Given the description of an element on the screen output the (x, y) to click on. 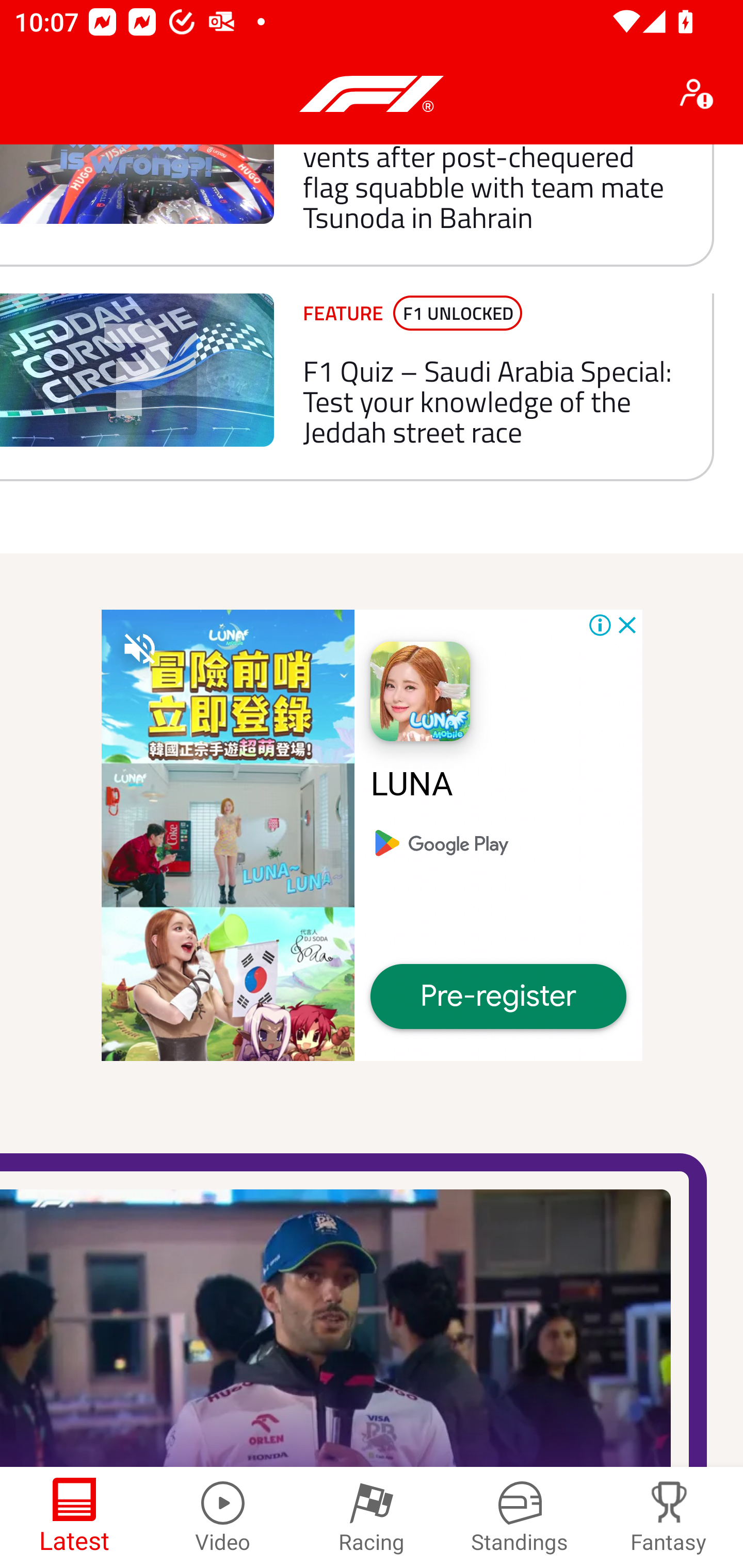
Pre-register (498, 996)
Video (222, 1517)
Racing (371, 1517)
Standings (519, 1517)
Fantasy (668, 1517)
